Given the description of an element on the screen output the (x, y) to click on. 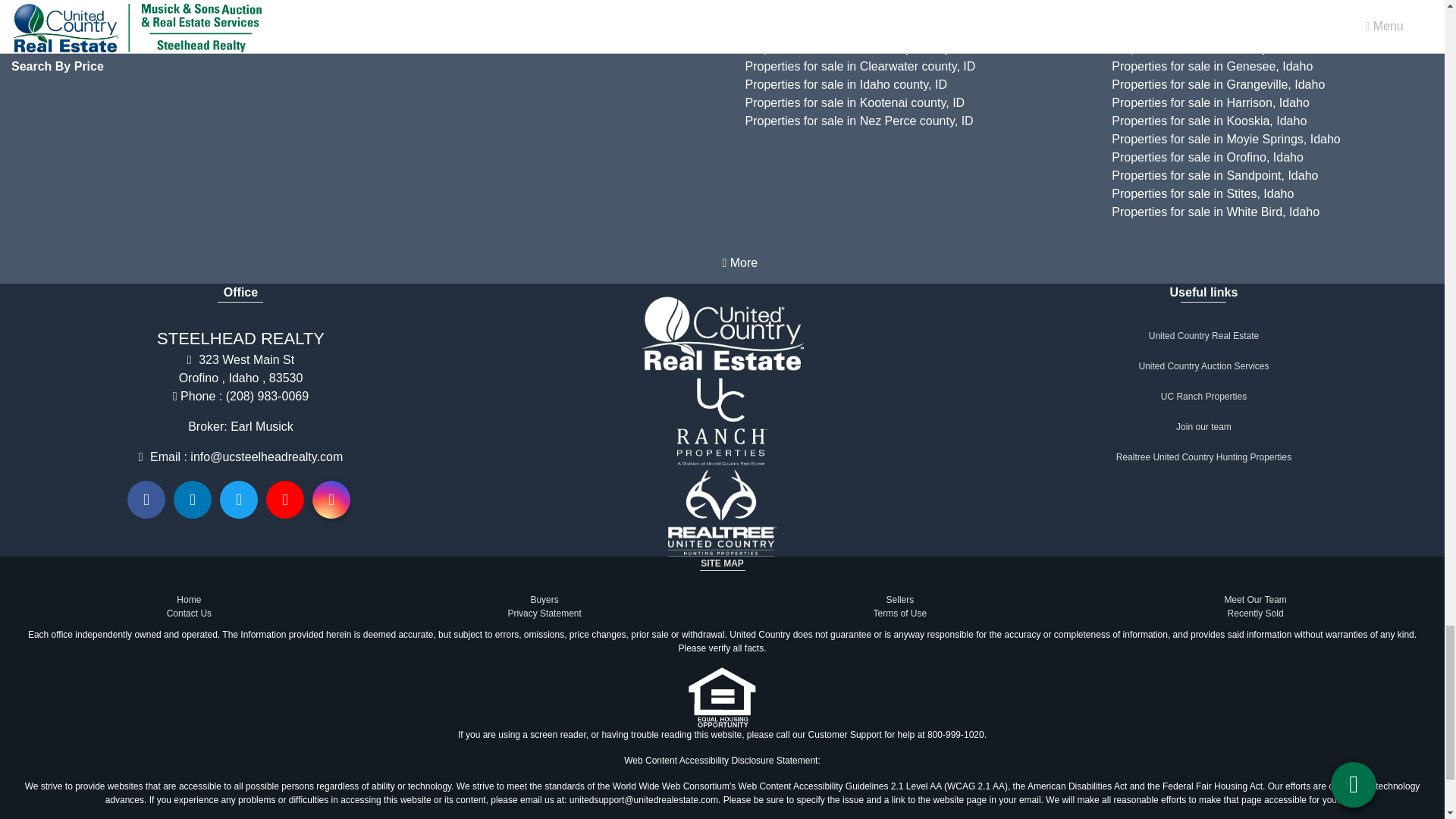
Equal Housing Opportunity logo (721, 697)
Instagram link (331, 499)
LinkedIn link (192, 499)
Youtube link (285, 499)
Facebook link (146, 499)
Twitter link (238, 499)
